Given the description of an element on the screen output the (x, y) to click on. 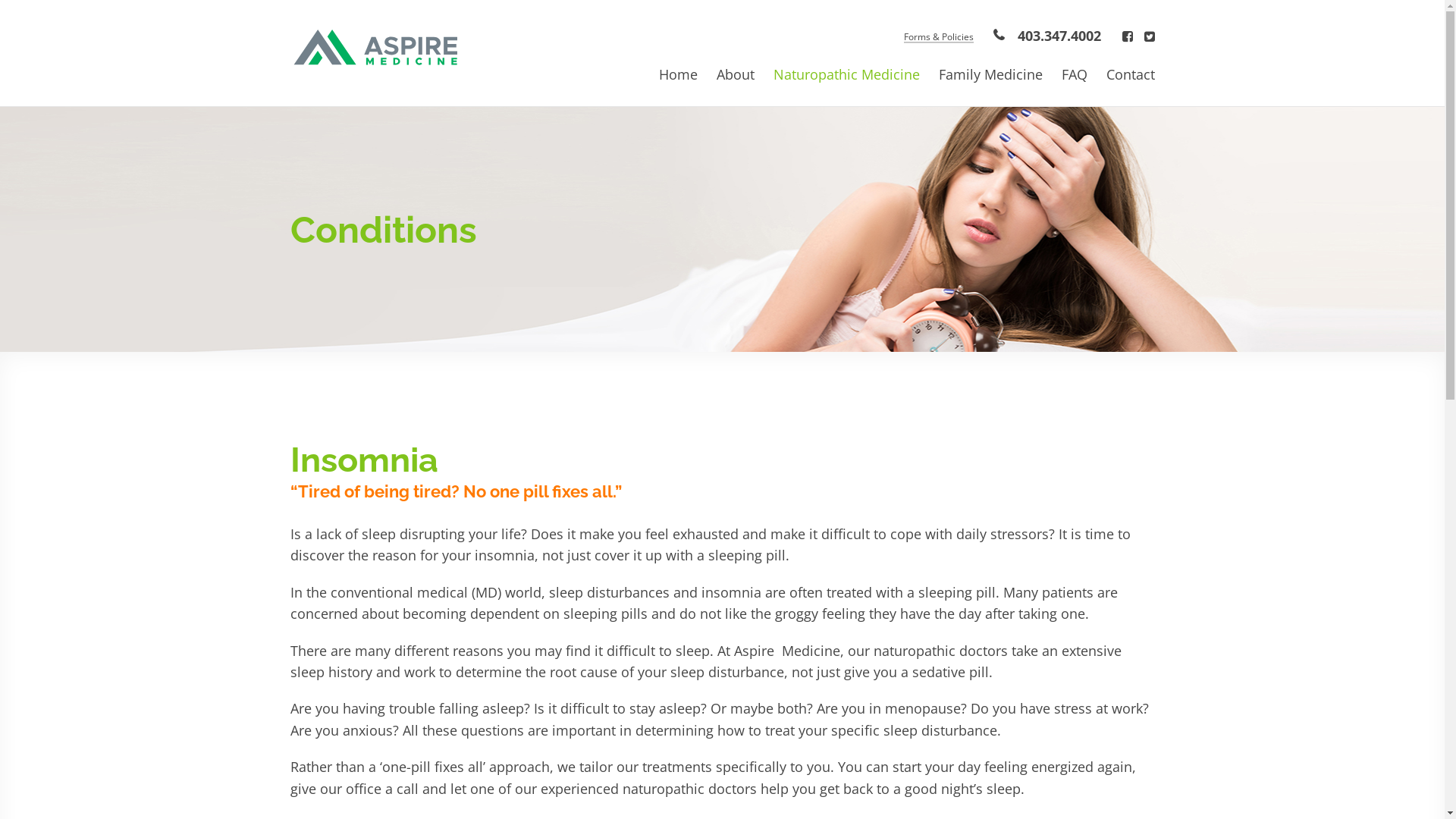
Contact Element type: text (1129, 74)
Twitter Element type: text (1148, 36)
Facebook Element type: text (1127, 36)
403.347.4002 Element type: text (1046, 35)
Naturopathic Medicine Element type: text (846, 74)
Family Medicine Element type: text (990, 74)
Forms & Policies Element type: text (937, 37)
About Element type: text (734, 74)
Home Element type: text (677, 74)
FAQ Element type: text (1074, 74)
